Given the description of an element on the screen output the (x, y) to click on. 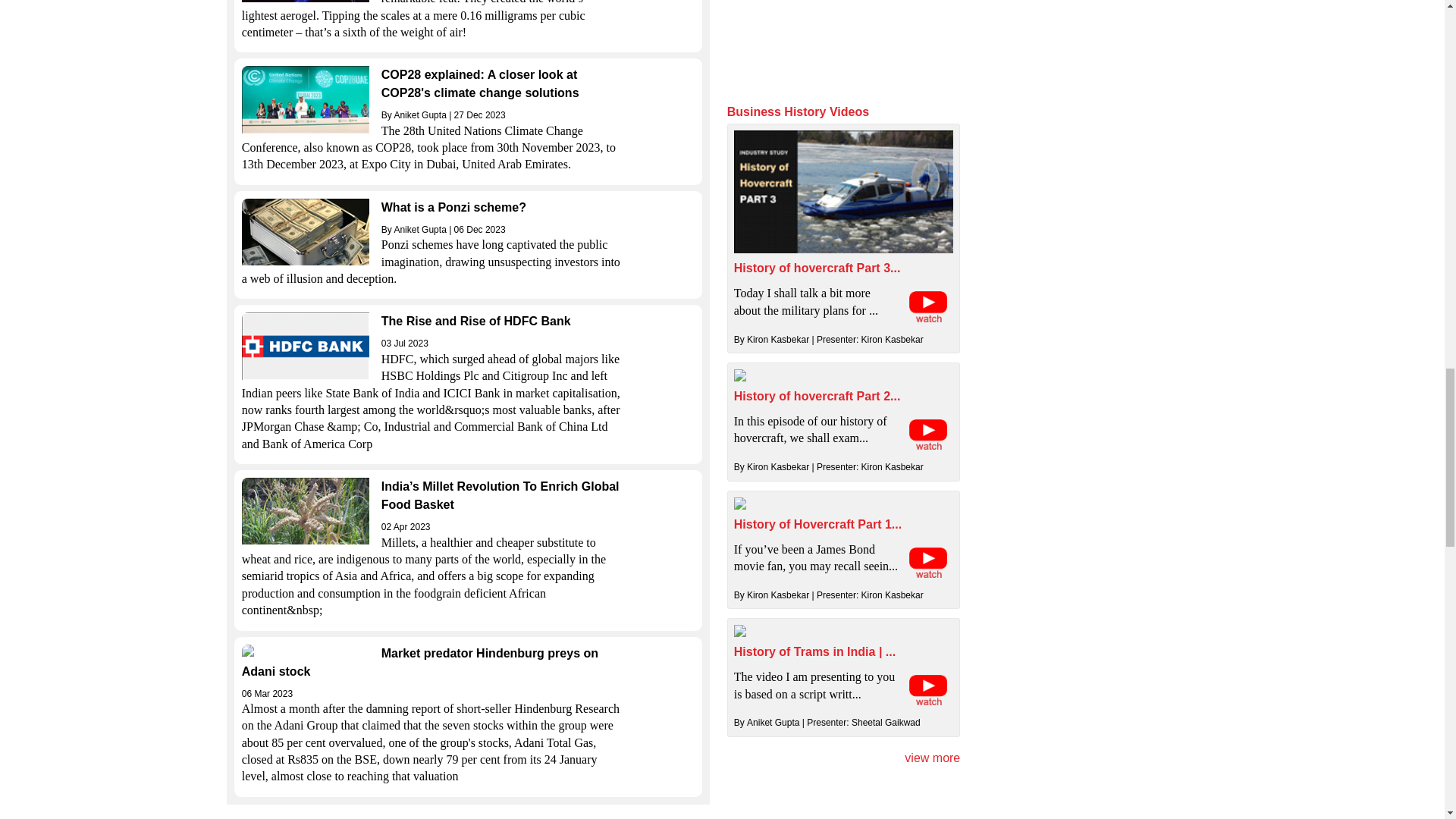
Click here to watch on YouTube (927, 434)
Click here to watch on YouTube (927, 306)
